Given the description of an element on the screen output the (x, y) to click on. 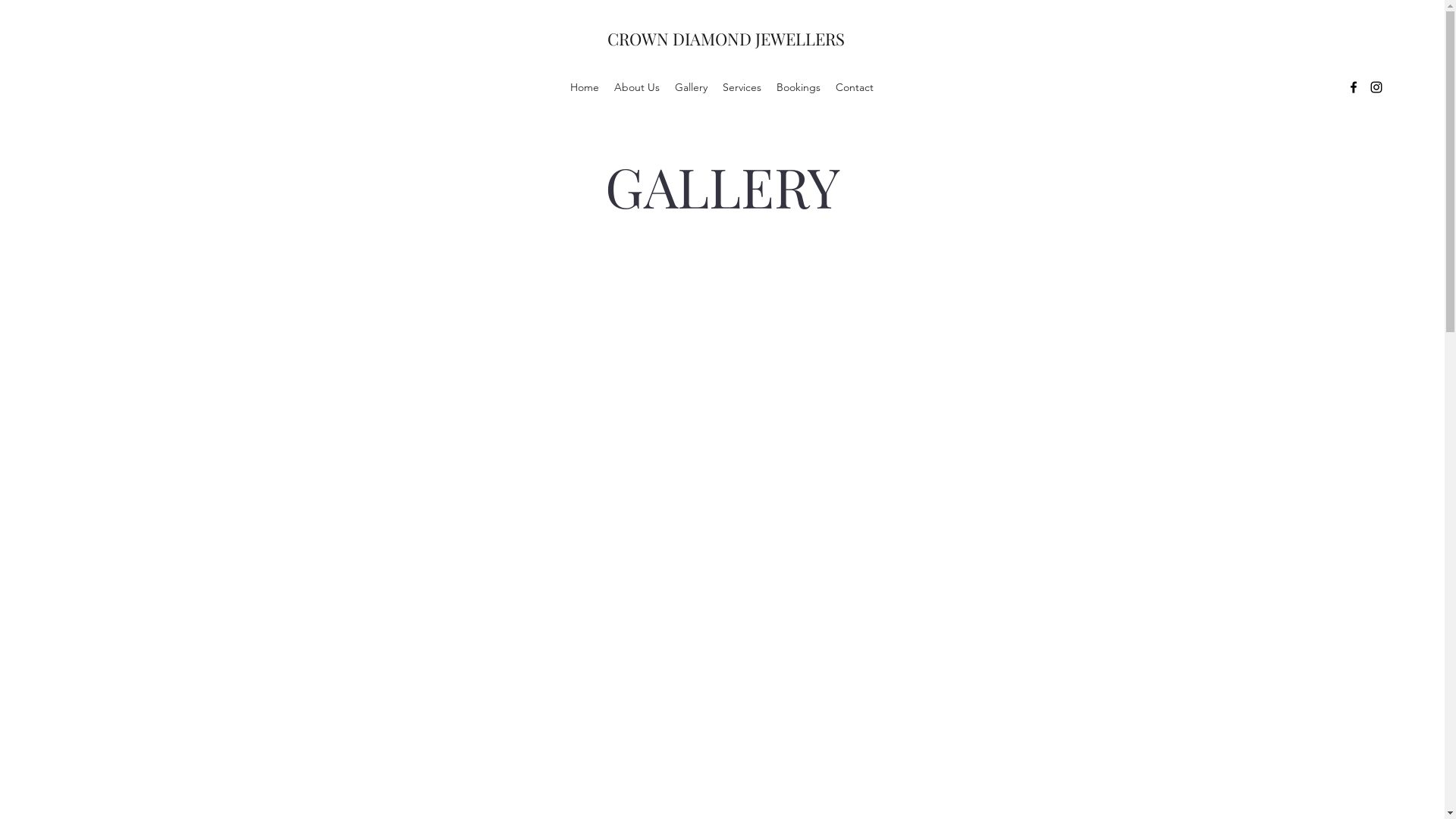
Contact Element type: text (854, 86)
About Us Element type: text (636, 86)
Bookings Element type: text (798, 86)
Services Element type: text (741, 86)
Gallery Element type: text (691, 86)
CROWN DIAMOND JEWELLERS Element type: text (725, 38)
Home Element type: text (584, 86)
